Given the description of an element on the screen output the (x, y) to click on. 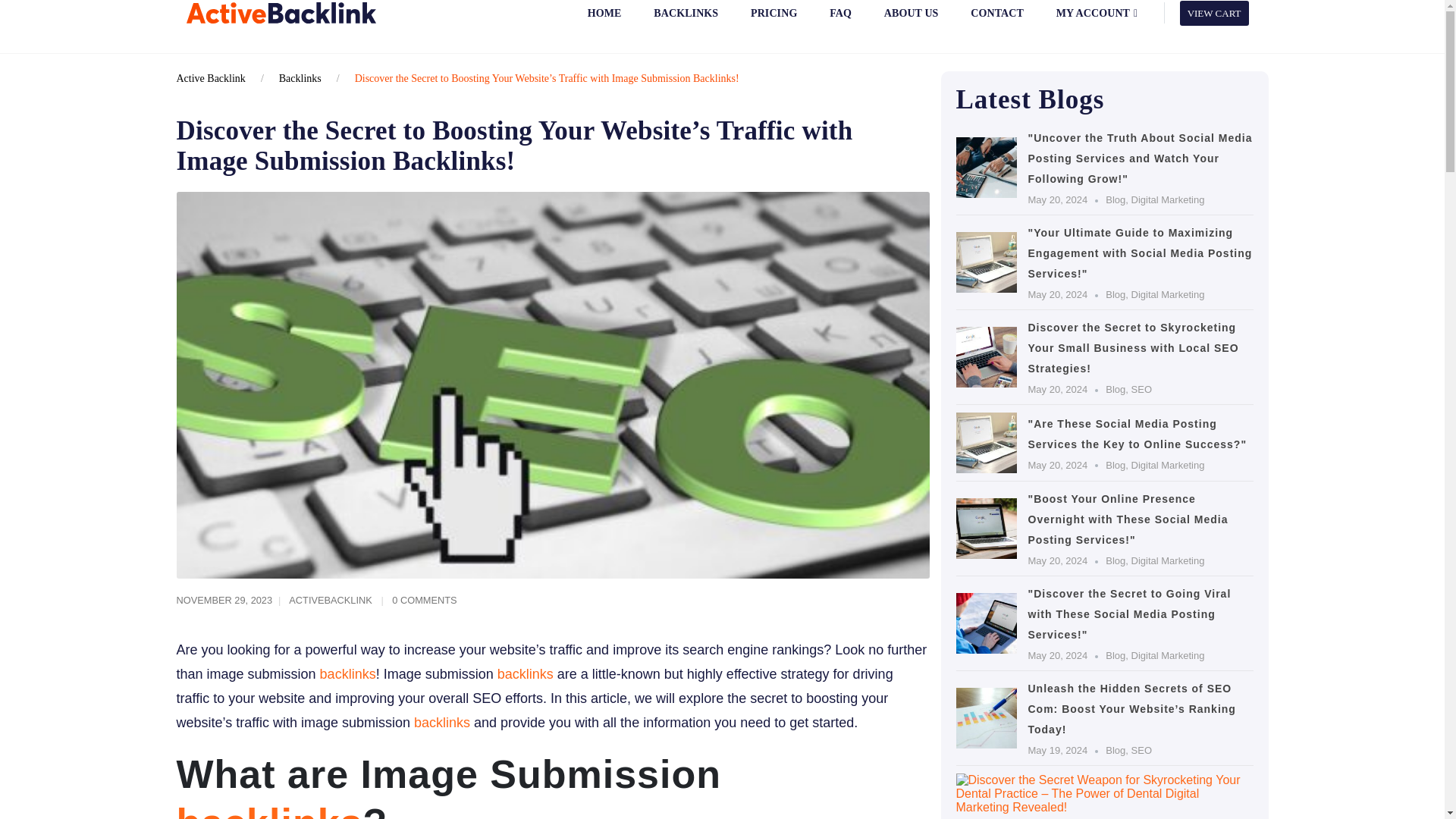
VIEW CART (1214, 12)
backlinks (525, 673)
Backlinks (300, 78)
FAQ (840, 20)
Posts by activebacklink (330, 600)
ACTIVEBACKLINK (330, 600)
0 COMMENTS (424, 600)
CONTACT (997, 20)
MY ACCOUNT (1096, 20)
backlinks (441, 722)
